Given the description of an element on the screen output the (x, y) to click on. 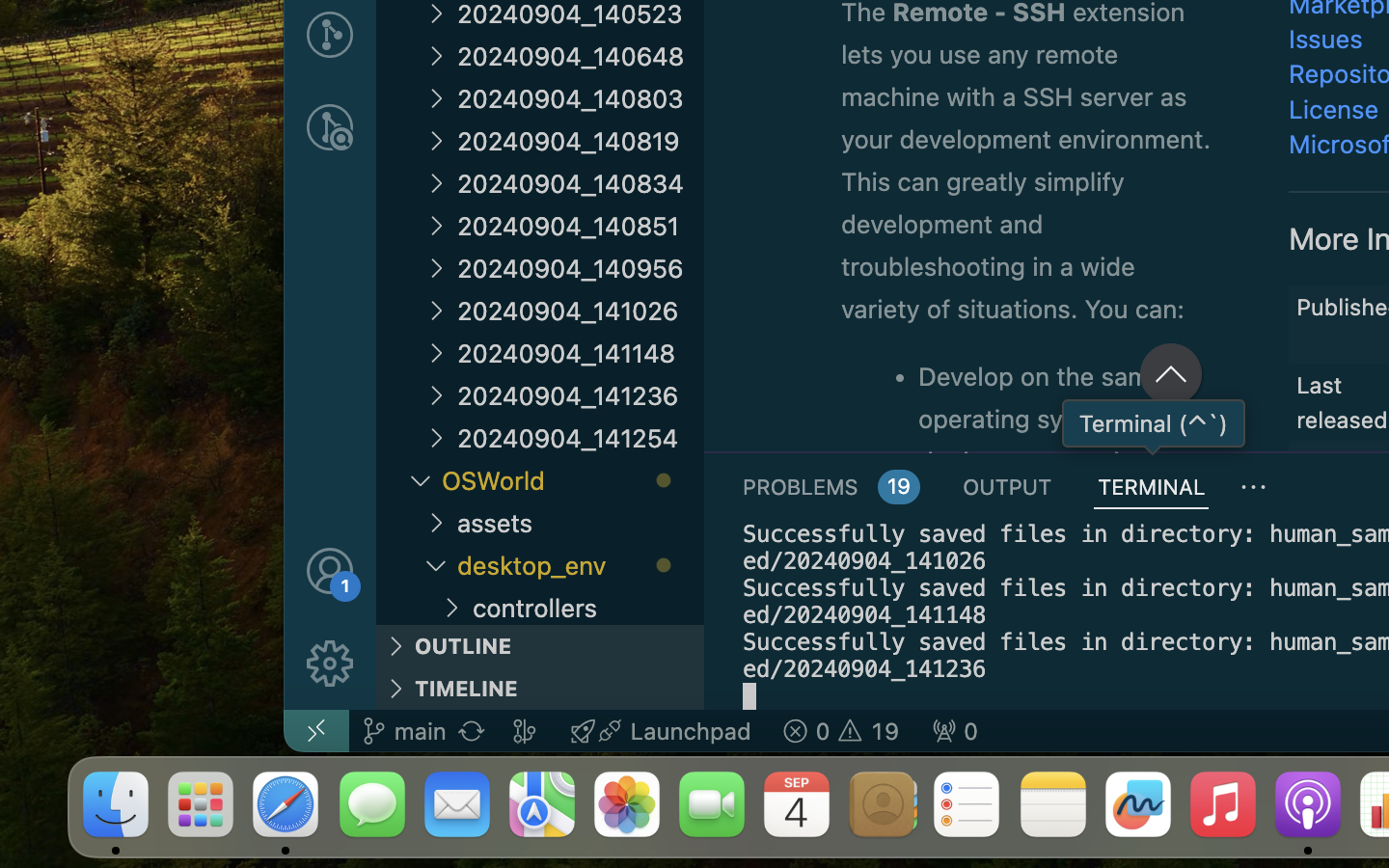
 Element type: AXGroup (329, 127)
19  0  Element type: AXButton (840, 730)
License Element type: AXStaticText (1333, 108)
Last released Element type: AXStaticText (1342, 402)
assets Element type: AXGroup (580, 522)
